Given the description of an element on the screen output the (x, y) to click on. 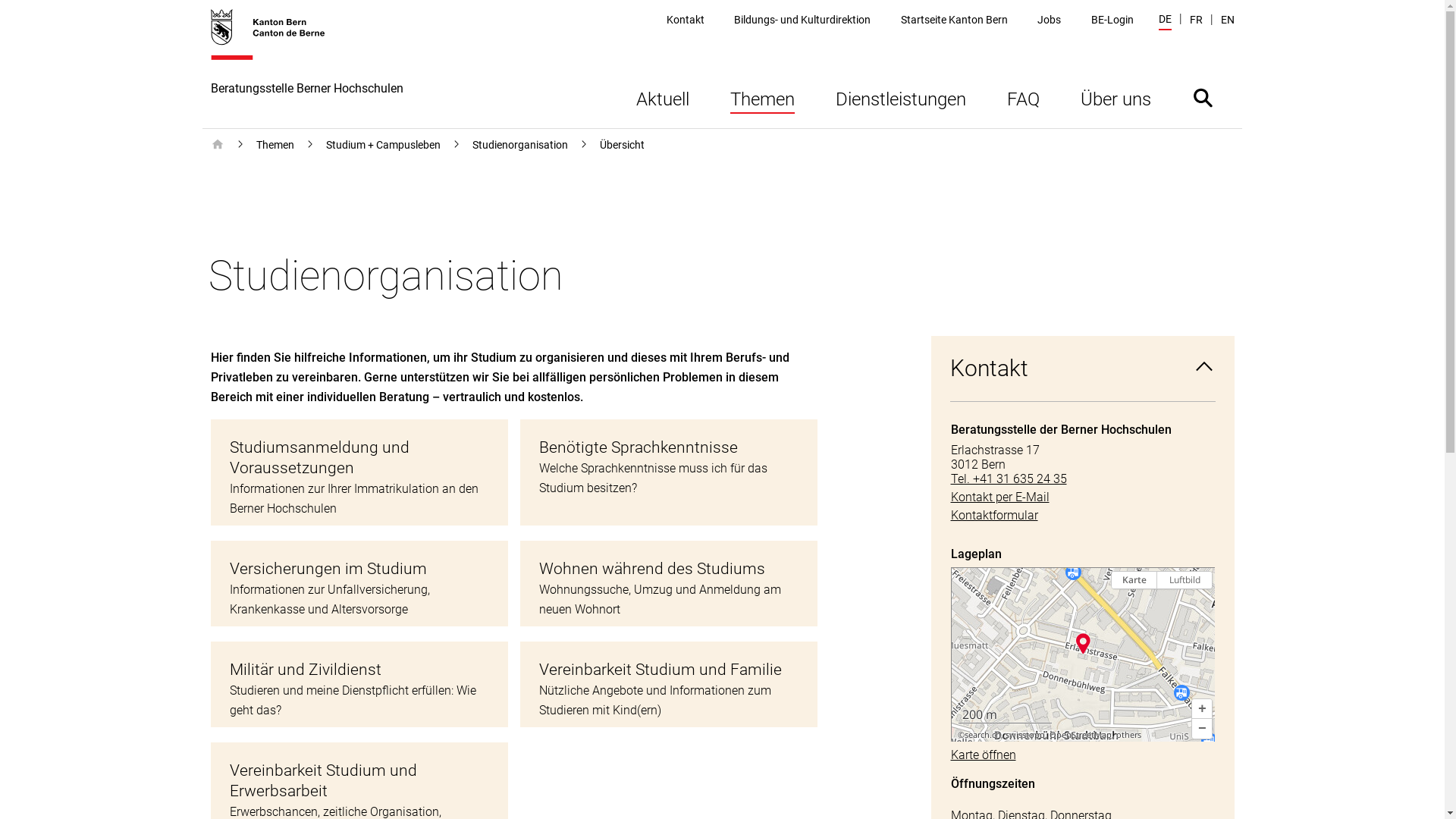
Startseite Kanton Bern Element type: text (953, 19)
Jobs Element type: text (1048, 19)
Dienstleistungen Element type: text (899, 96)
Themen Element type: text (762, 96)
FAQ Element type: text (1022, 96)
DE Element type: text (1164, 21)
Kontakt per E-Mail Element type: text (1082, 496)
FR Element type: text (1195, 19)
Lageplan Element type: hover (1082, 654)
Bildungs- und Kulturdirektion Element type: text (802, 19)
EN Element type: text (1227, 19)
Kontakt Element type: text (685, 19)
Themen Element type: text (275, 144)
BE-Login Element type: text (1112, 19)
Aktuell Element type: text (662, 96)
Kontaktformular Element type: text (1082, 515)
Suche ein- oder ausblenden Element type: text (1201, 96)
Studium + Campusleben Element type: text (383, 144)
Studienorganisation Element type: text (519, 144)
Tel. +41 31 635 24 35 Element type: text (1082, 478)
Beratungsstelle Berner Hochschulen Element type: text (306, 68)
Kontakt Element type: text (1082, 368)
